Given the description of an element on the screen output the (x, y) to click on. 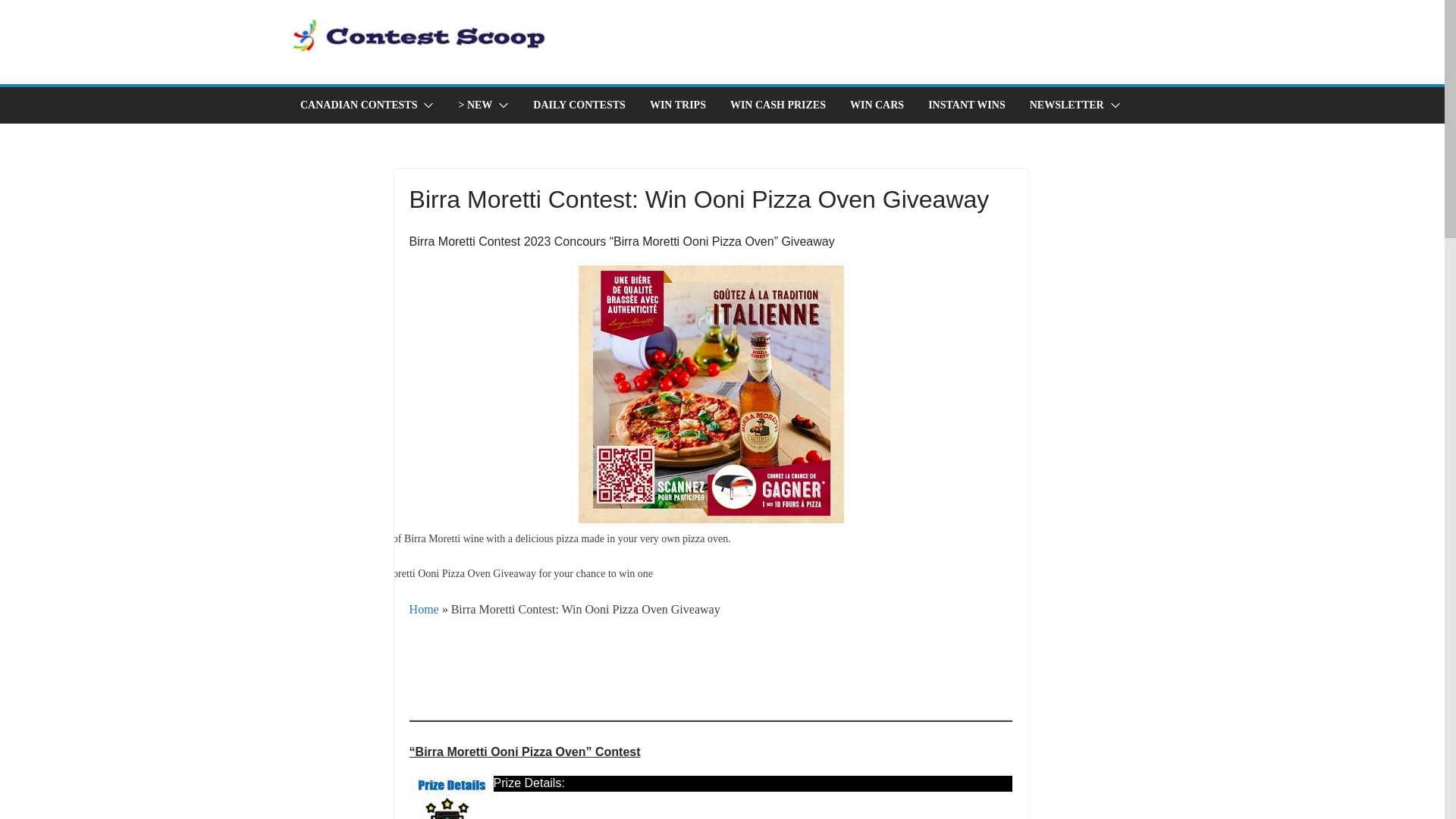
NEWSLETTER (1066, 105)
CANADIAN CONTESTS (357, 105)
WIN CASH PRIZES (777, 105)
WIN CARS (877, 105)
WIN TRIPS (677, 105)
Home (424, 608)
INSTANT WINS (967, 105)
DAILY CONTESTS (579, 105)
